Given the description of an element on the screen output the (x, y) to click on. 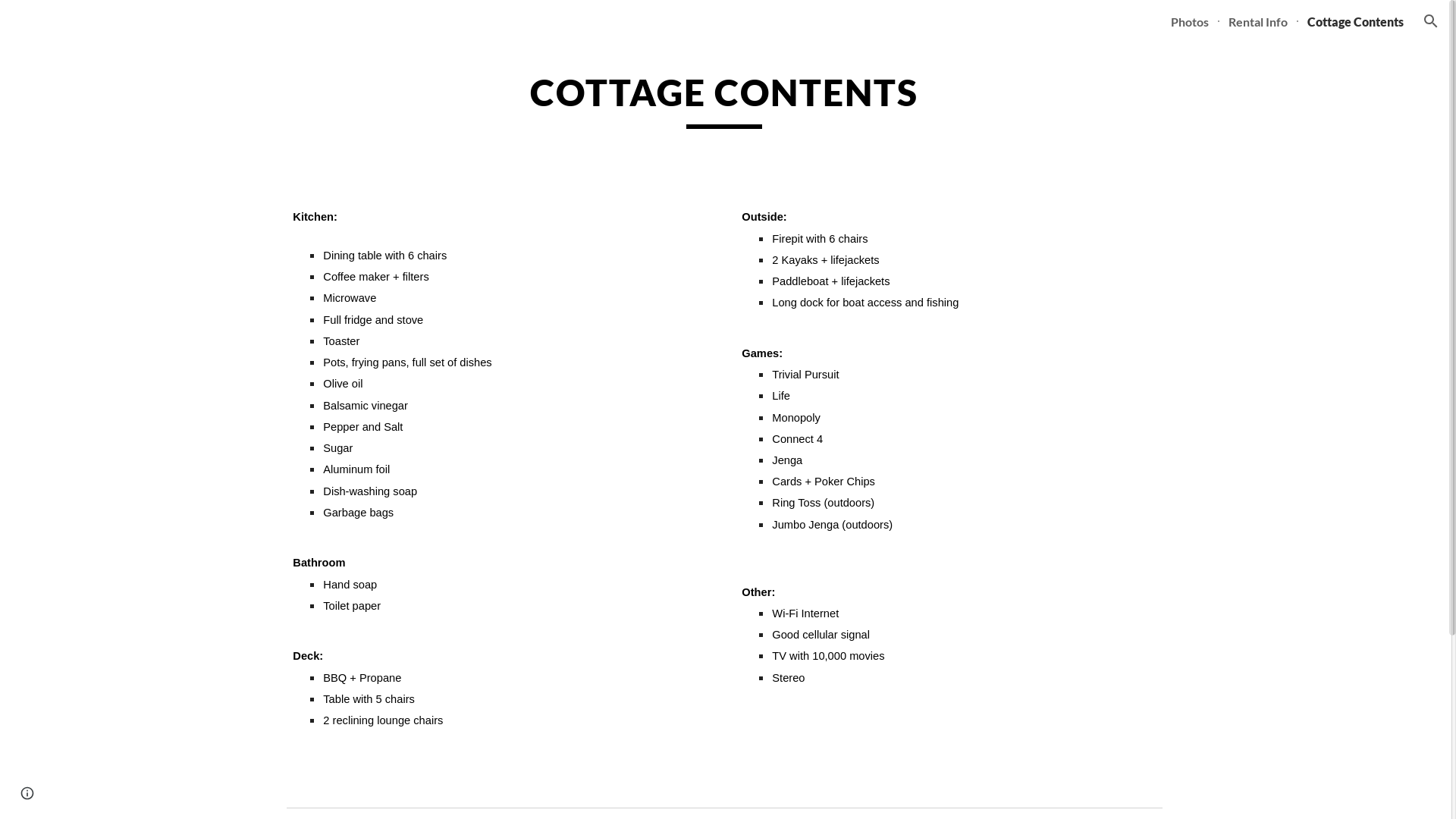
Cottage Contents Element type: text (1355, 20)
Photos Element type: text (1189, 20)
Rental Info Element type: text (1257, 20)
